Given the description of an element on the screen output the (x, y) to click on. 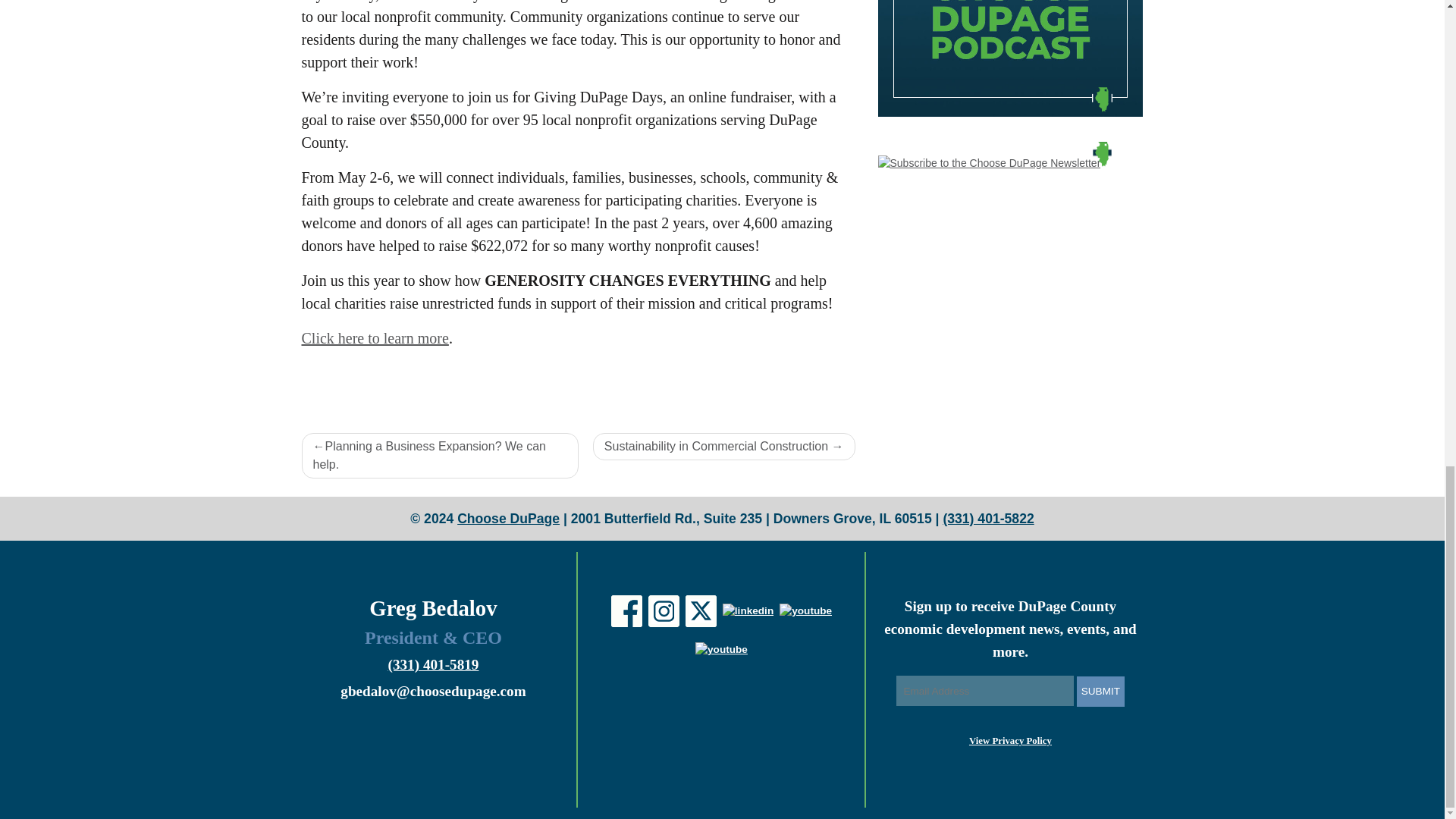
SUBMIT (1100, 691)
